Given the description of an element on the screen output the (x, y) to click on. 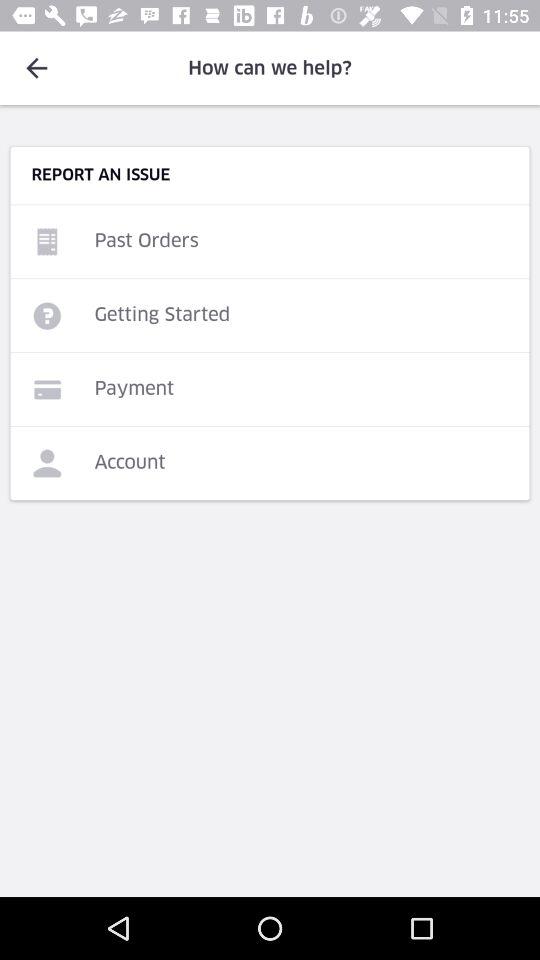
select icon next to how can we icon (36, 68)
